Given the description of an element on the screen output the (x, y) to click on. 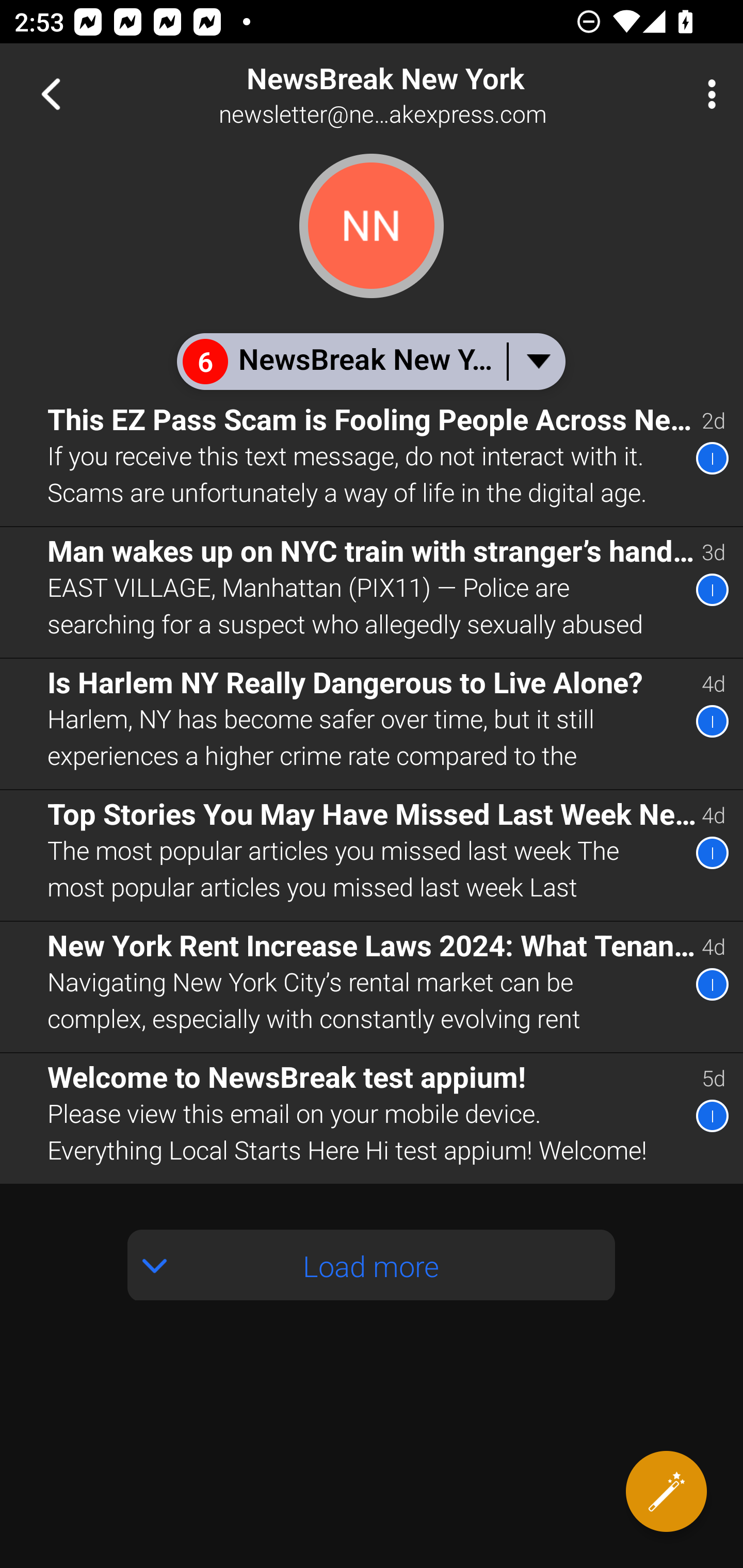
Navigate up (50, 93)
NewsBreak New York newsletter@newsbreakexpress.com (436, 93)
More Options (706, 93)
6 NewsBreak New York & You (370, 361)
Load more (371, 1264)
